Given the description of an element on the screen output the (x, y) to click on. 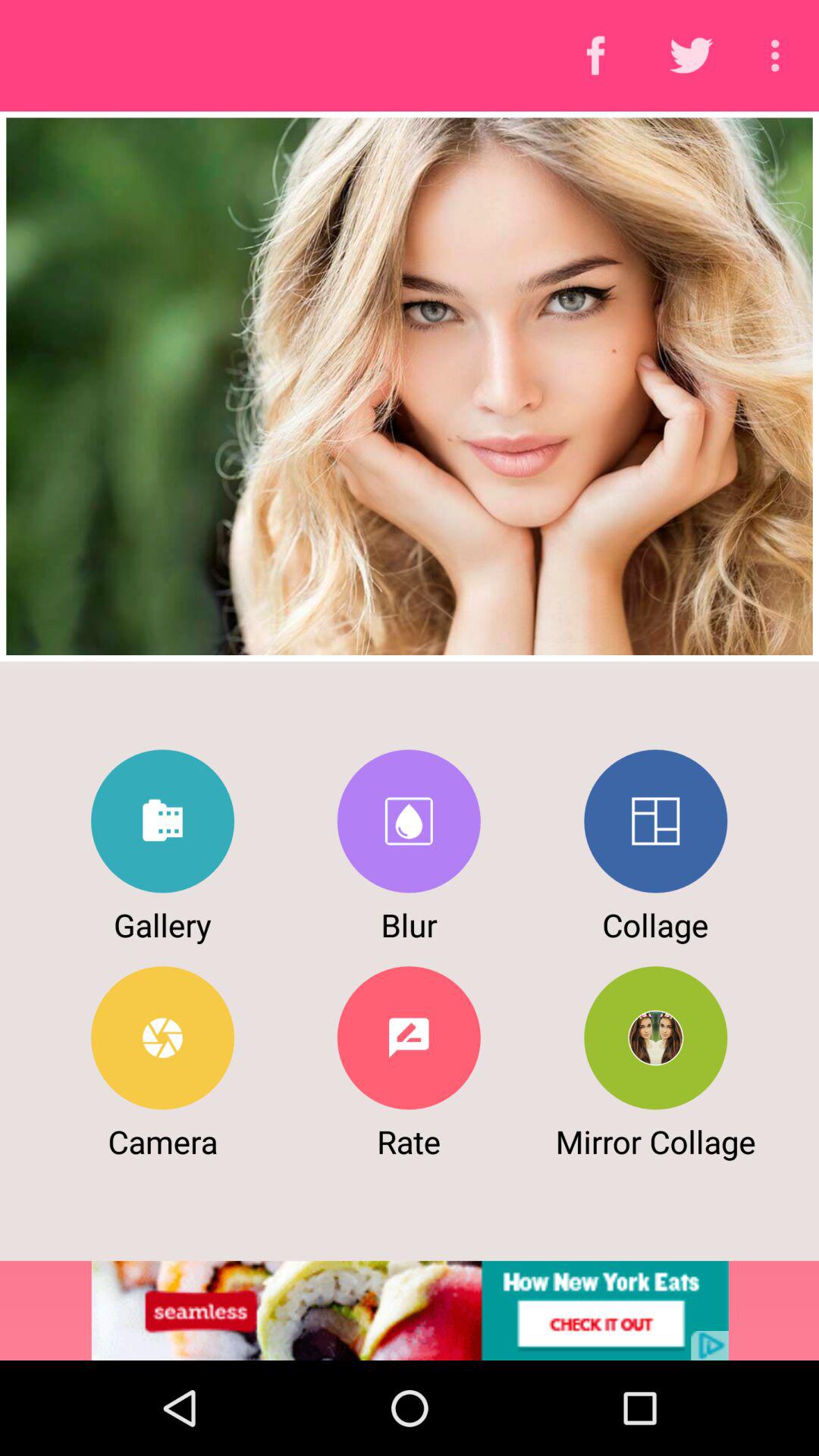
gallery (162, 820)
